Given the description of an element on the screen output the (x, y) to click on. 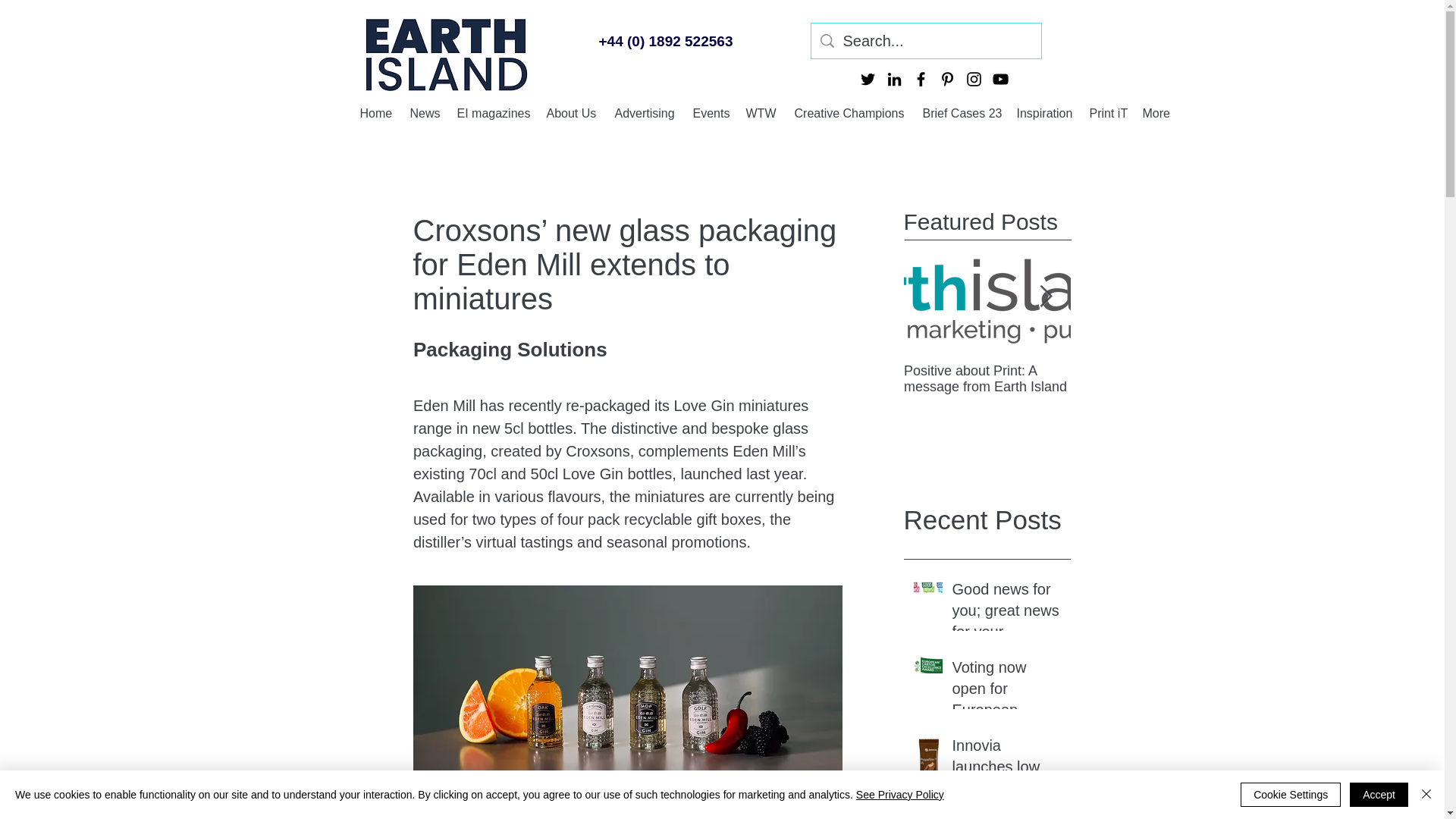
About Us (572, 112)
Good news for you; great news for your customers (1006, 613)
Brief Cases 23 (961, 112)
Positive about Print: A message from Earth Island (1153, 377)
Home (376, 112)
News (424, 112)
Advertising (645, 112)
Creative Champions (851, 112)
Inspiration (1045, 112)
WTW (762, 112)
Positive about Print: A message from Earth Island (987, 377)
Print iT (1107, 112)
Events (711, 112)
